Given the description of an element on the screen output the (x, y) to click on. 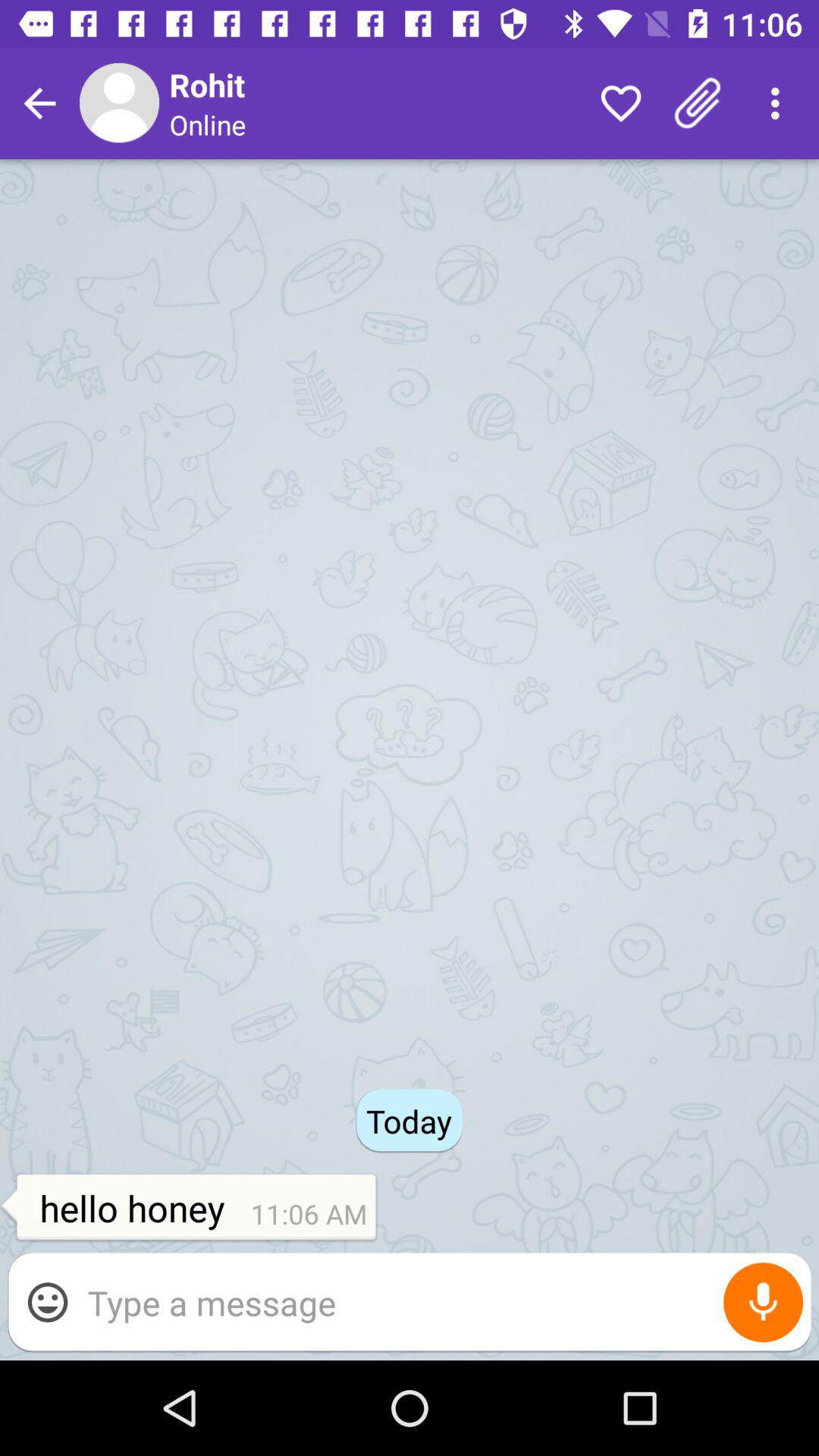
turn off the icon to the right of online item (620, 103)
